Given the description of an element on the screen output the (x, y) to click on. 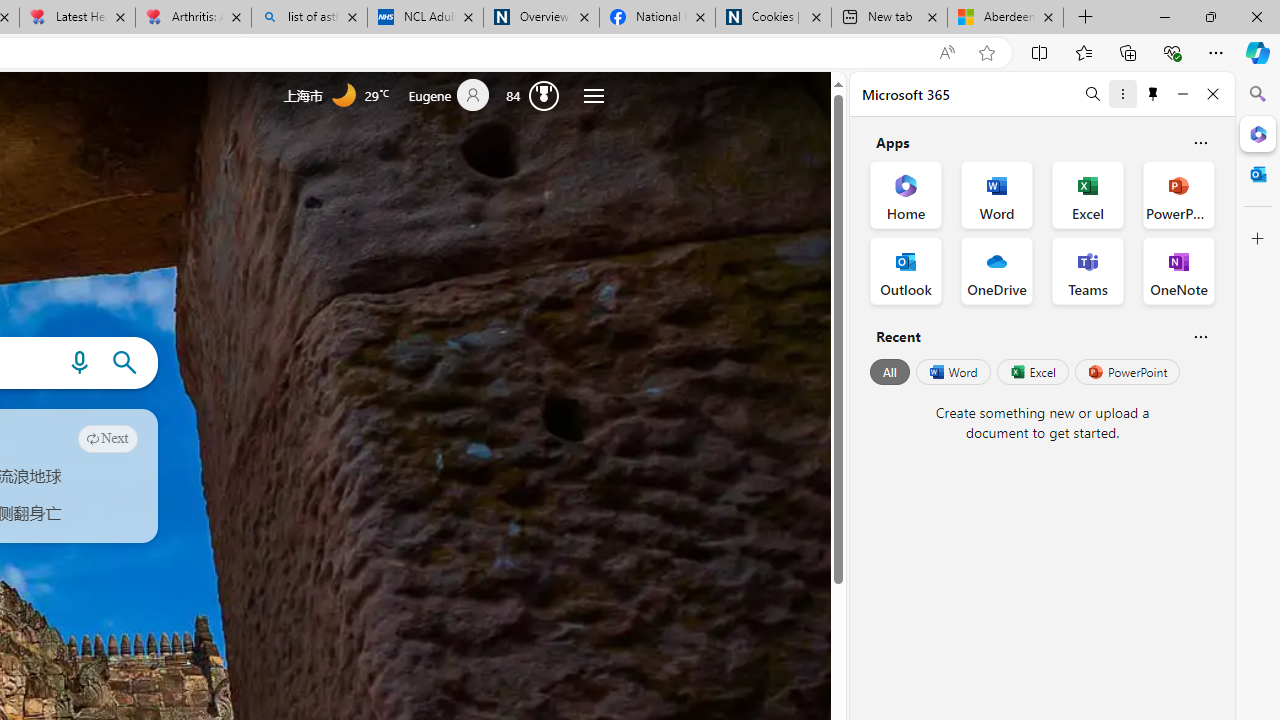
PowerPoint Office App (1178, 194)
Word (952, 372)
Is this helpful? (1200, 336)
Settings and quick links (594, 95)
Outlook Office App (906, 270)
Home Office App (906, 194)
All (890, 372)
Microsoft Rewards 84 (537, 94)
Teams Office App (1087, 270)
